Given the description of an element on the screen output the (x, y) to click on. 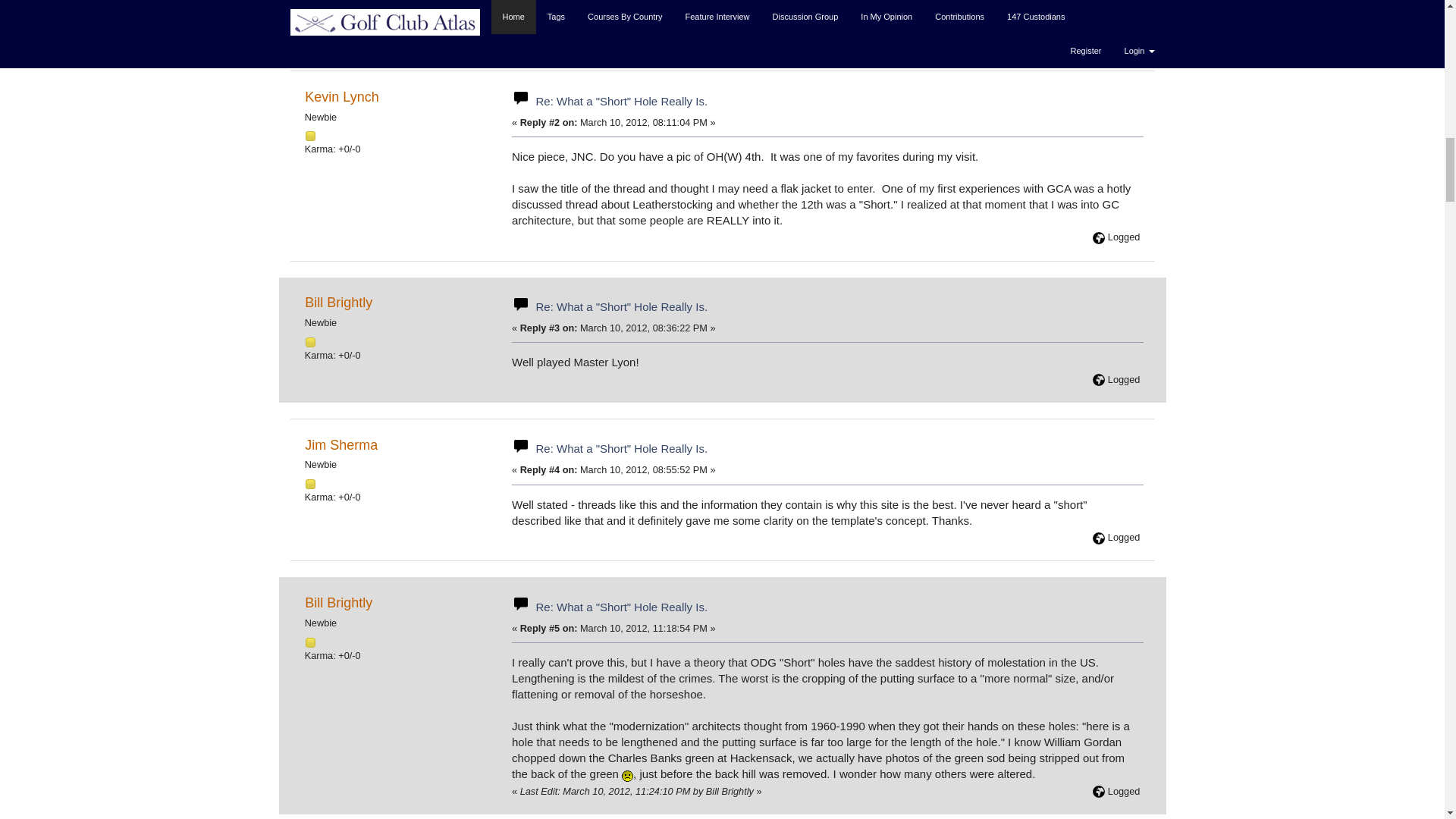
Sad (627, 776)
Re: What a "Short" Hole Really Is. (621, 448)
Re: What a "Short" Hole Really Is. (621, 606)
Re: What a "Short" Hole Really Is. (621, 306)
Re: What a "Short" Hole Really Is. (621, 101)
